Given the description of an element on the screen output the (x, y) to click on. 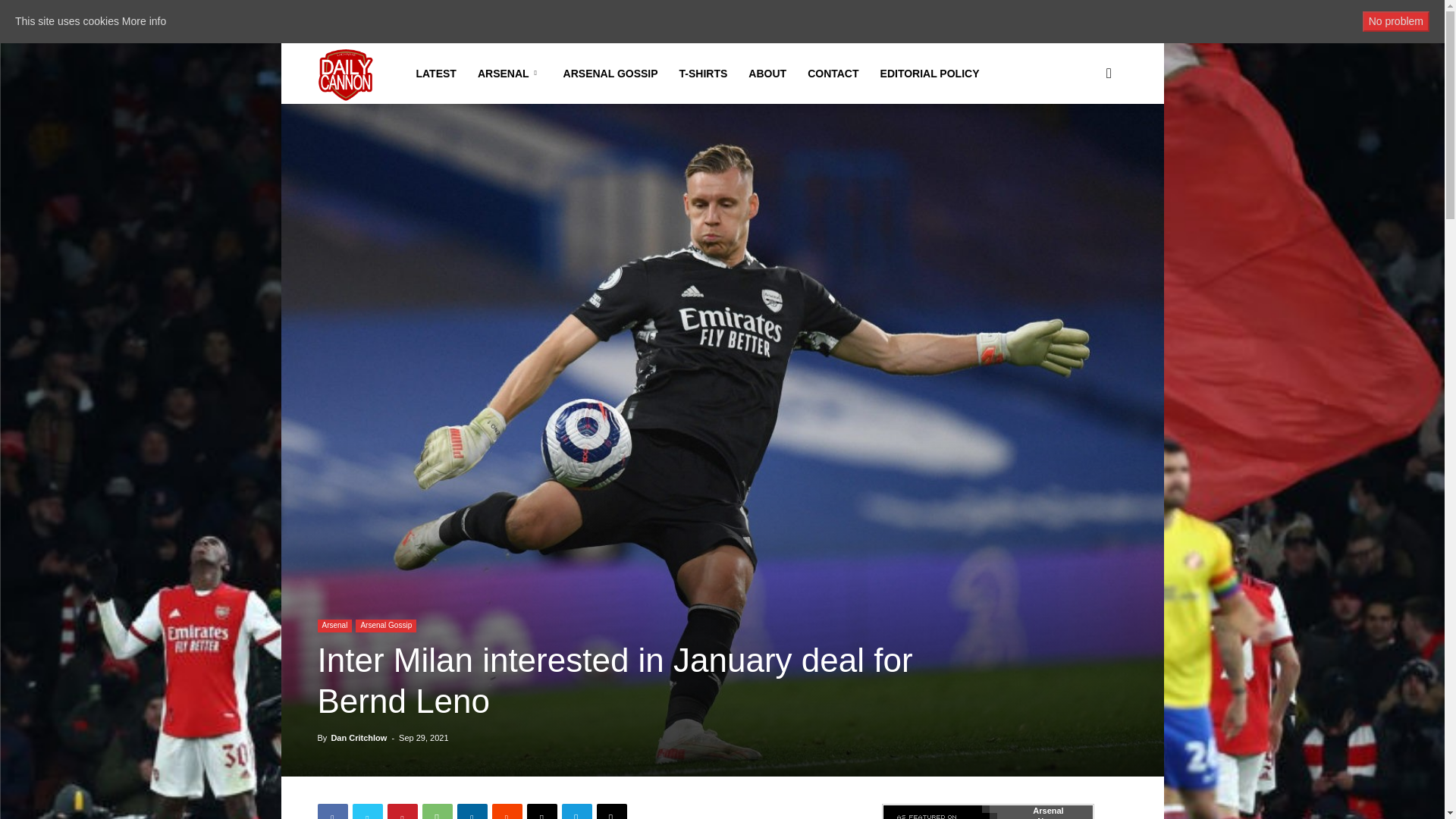
ReddIt (506, 811)
WhatsApp (436, 811)
Search (1085, 146)
Facebook (332, 811)
Telegram (575, 811)
Twitter (366, 811)
Pinterest (401, 811)
Copy URL (610, 811)
Email (540, 811)
Linkedin (471, 811)
